Given the description of an element on the screen output the (x, y) to click on. 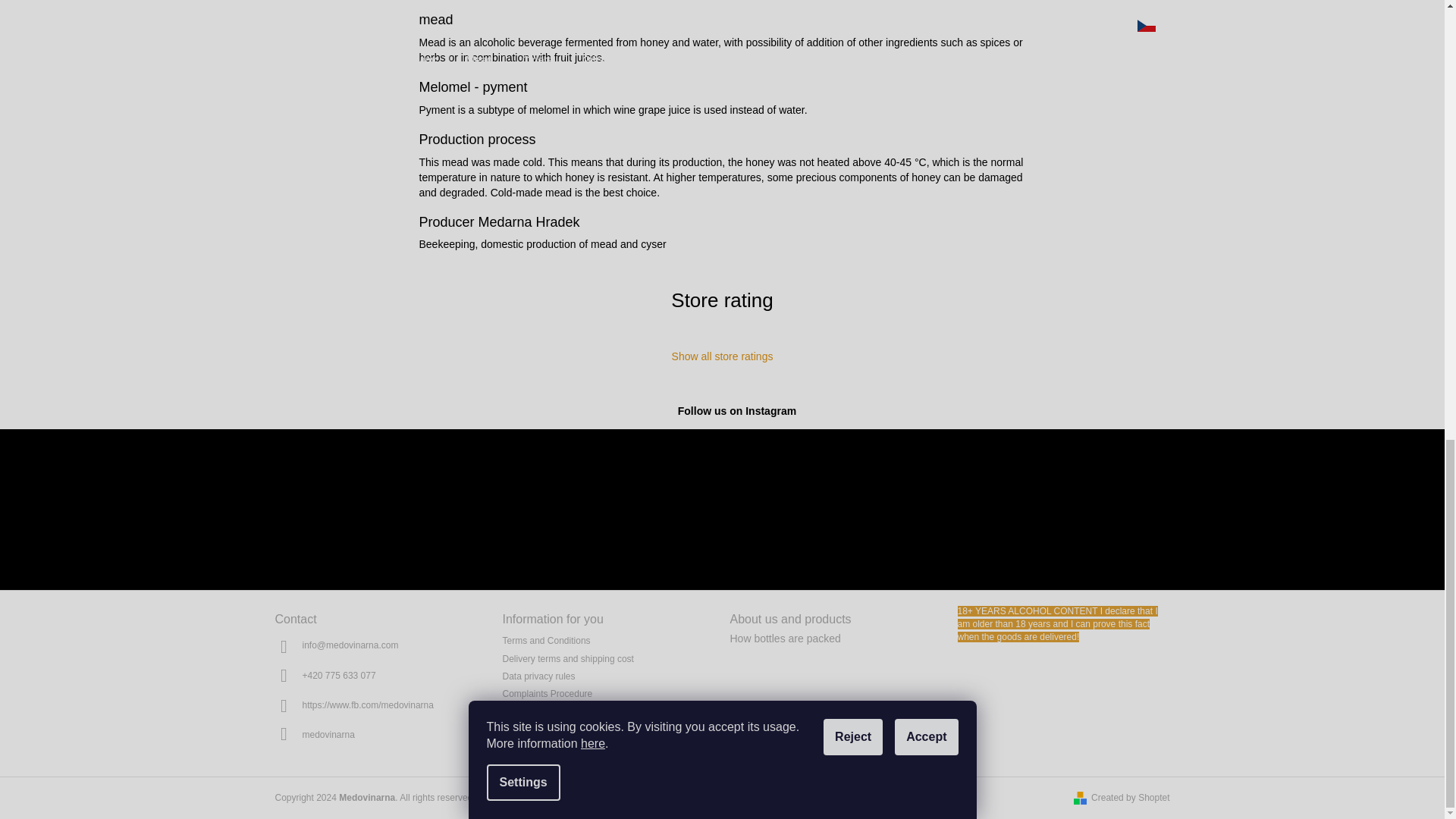
Facebook (366, 705)
Instagram (327, 734)
Phone (338, 674)
